Given the description of an element on the screen output the (x, y) to click on. 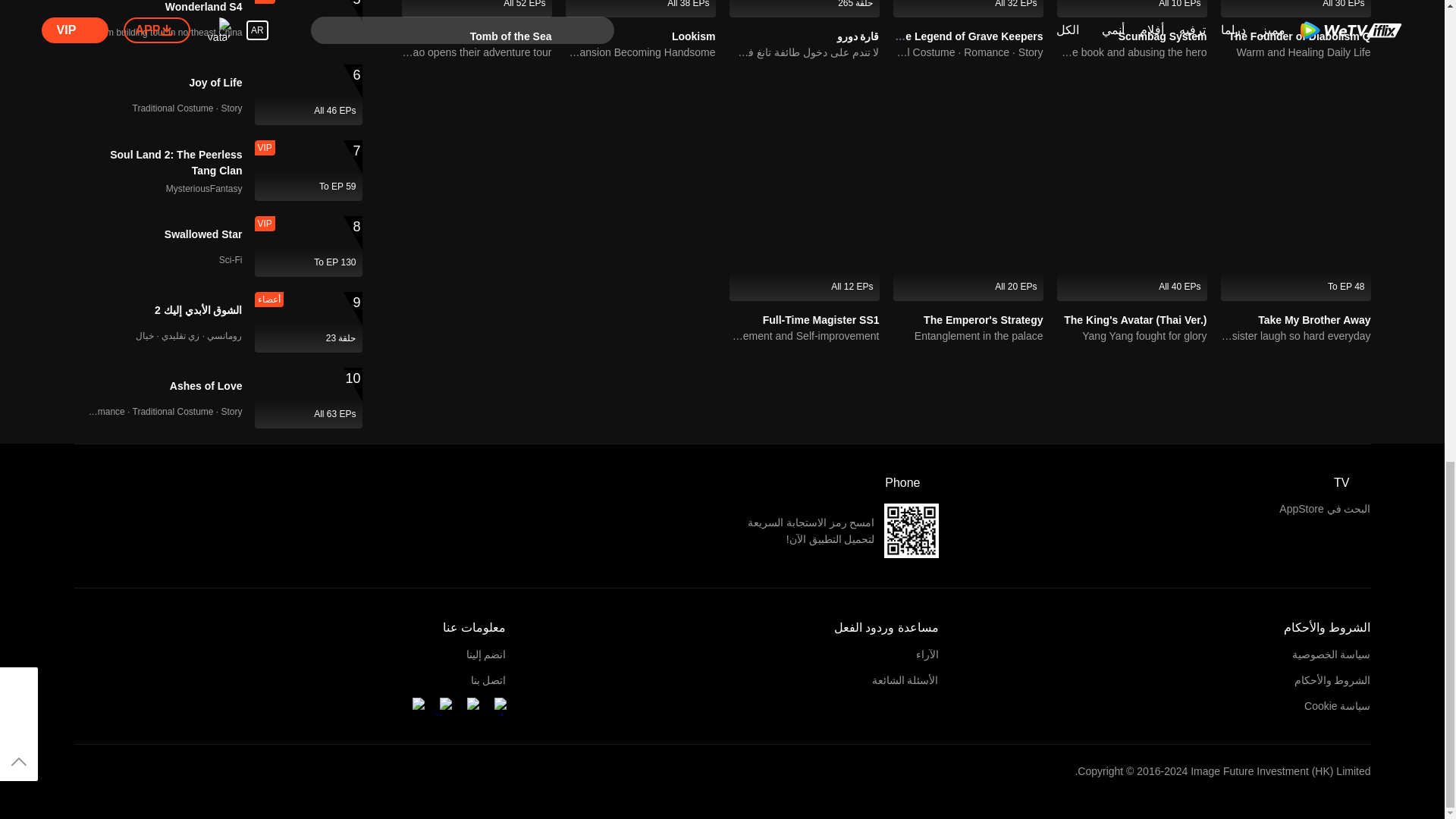
Two-sided Life of Fat Mansion Becoming Handsome (641, 52)
Tomb of the Sea (510, 36)
Wu Lei and Qinhao opens their adventure tour. (476, 52)
The Founder of Diabolism Q (1299, 36)
Scumbag System (1162, 36)
The Founder of Diabolism Q (1296, 8)
Scumbag System (1132, 8)
Take My Brother Away (1313, 319)
Tomb of the Sea (510, 36)
Warm and Healing Daily Life (1296, 52)
Lookism (693, 36)
Scumbag System (1162, 36)
The Legend of Grave Keepers (967, 36)
The Legend of Grave Keepers (968, 8)
